Given the description of an element on the screen output the (x, y) to click on. 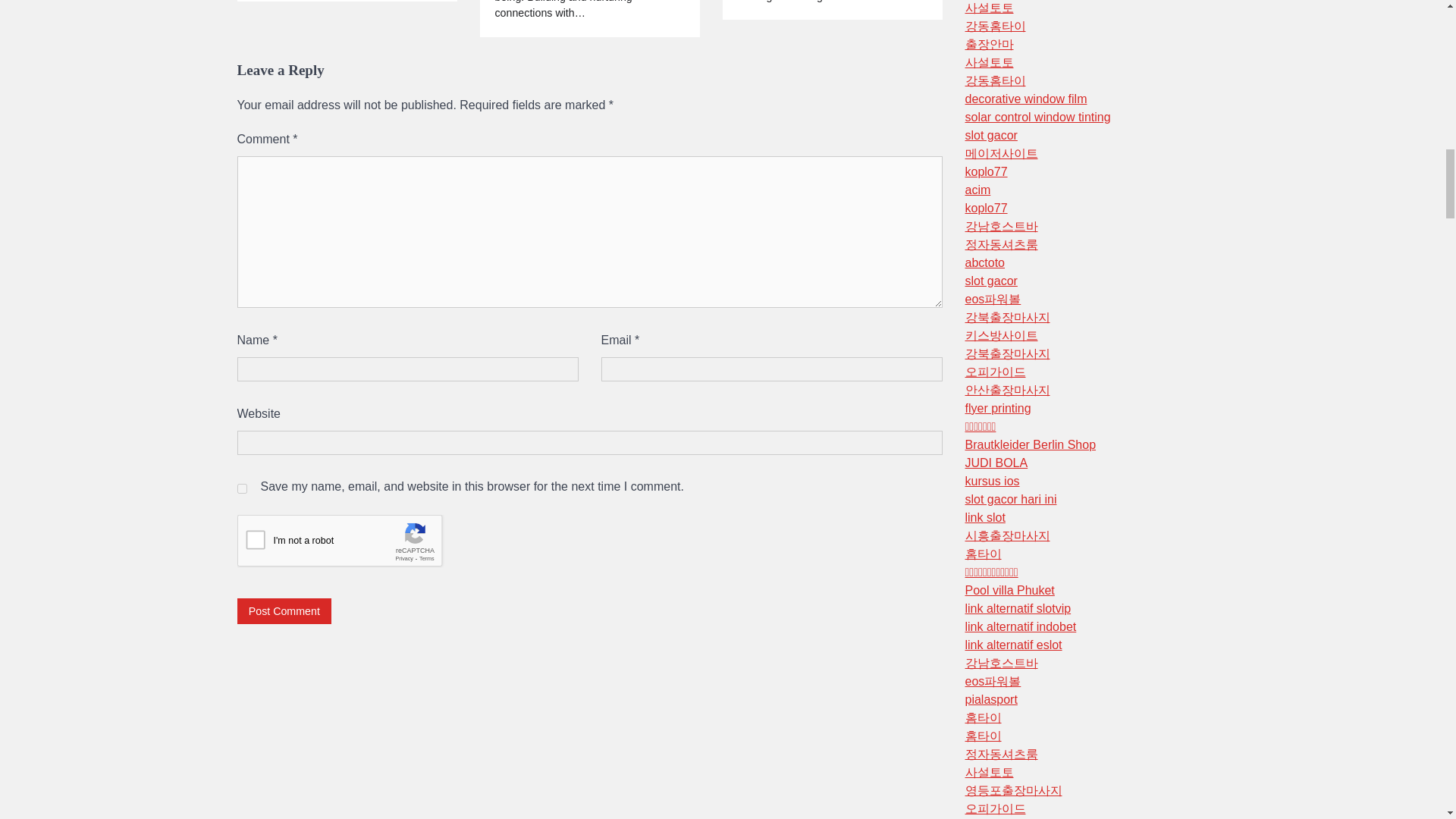
yes (240, 488)
Post Comment (283, 610)
reCAPTCHA (351, 544)
Post Comment (283, 610)
